Given the description of an element on the screen output the (x, y) to click on. 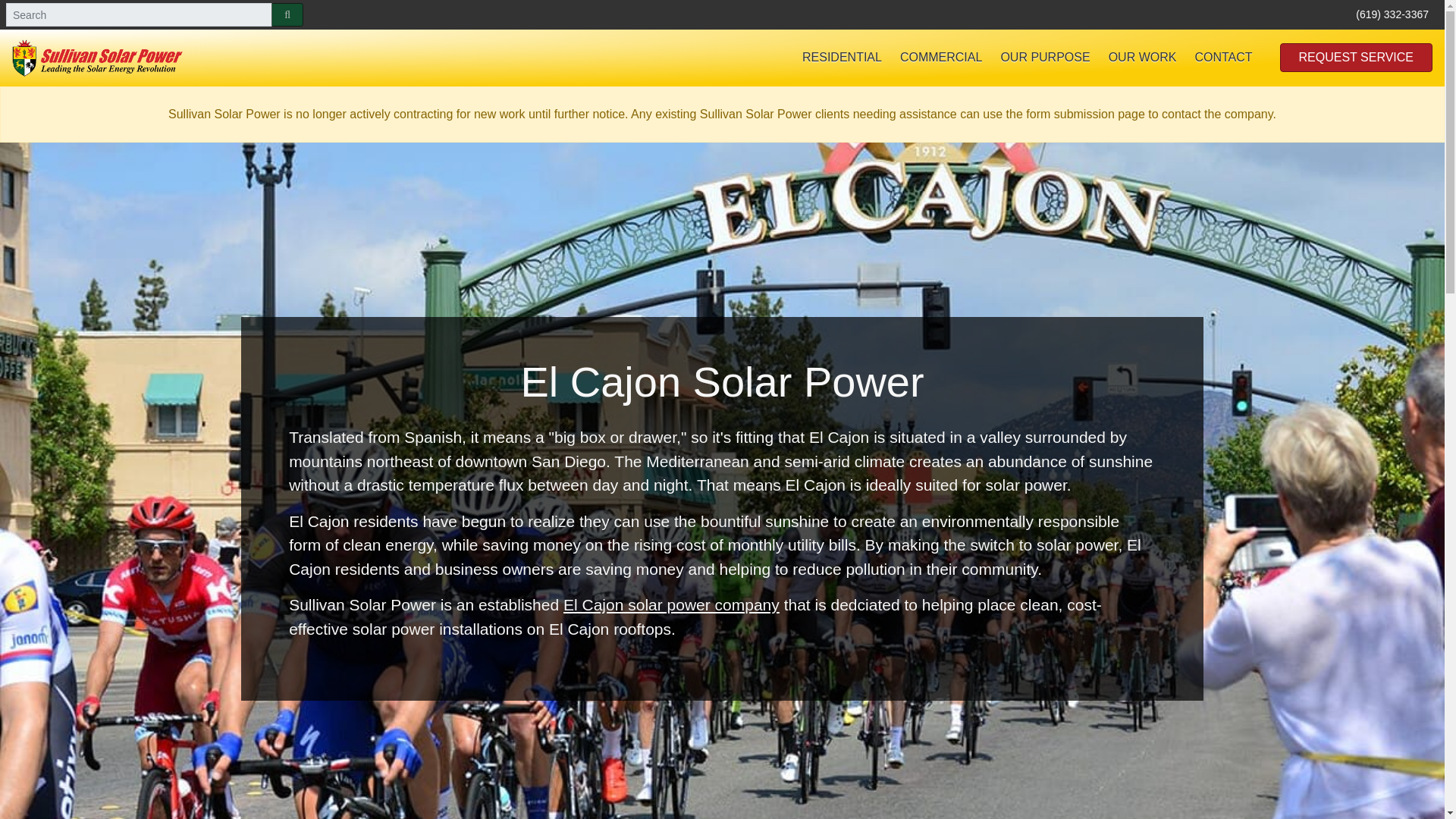
REQUEST SERVICE (1355, 57)
COMMERCIAL (941, 57)
RESIDENTIAL (842, 57)
El Cajon solar power company (670, 604)
OUR PURPOSE (1045, 57)
CONTACT (1222, 57)
OUR WORK (1142, 57)
